Given the description of an element on the screen output the (x, y) to click on. 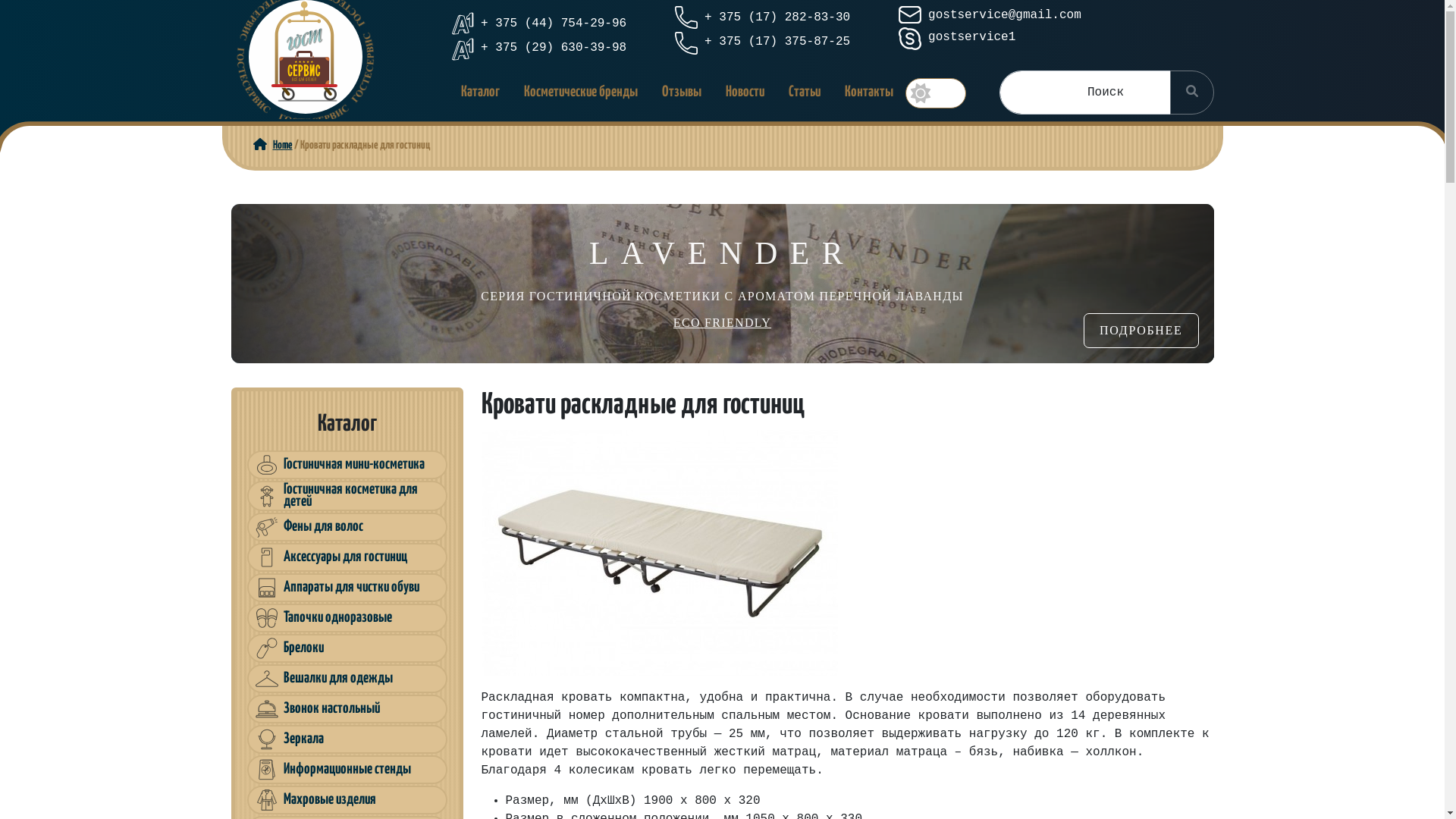
gostservice@gmail.com Element type: text (988, 14)
Search Element type: text (1191, 92)
 gostservice1 Element type: text (956, 36)
Home Element type: text (269, 144)
